Given the description of an element on the screen output the (x, y) to click on. 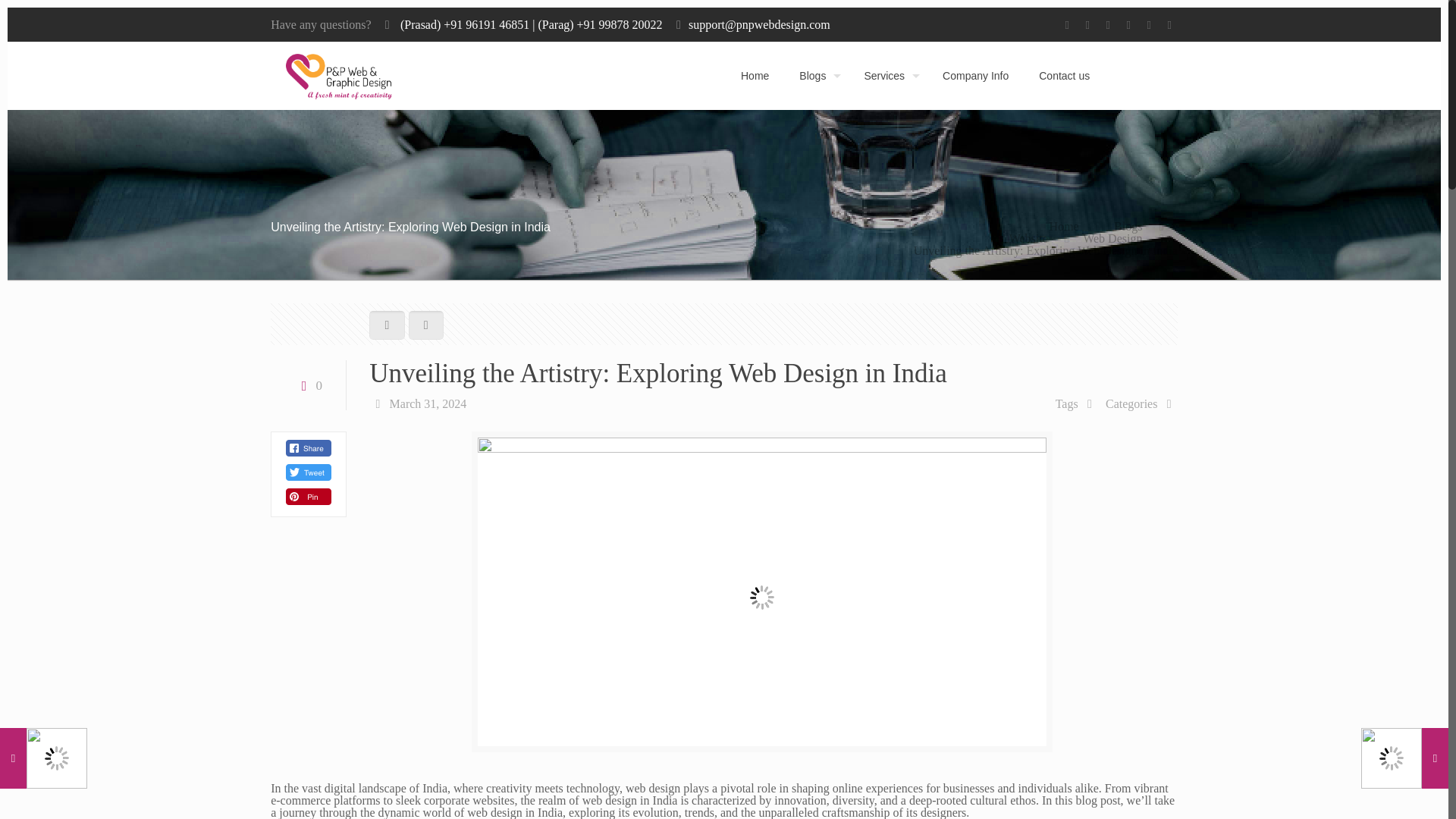
Home (1063, 226)
LinkedIn (1129, 24)
Web Design (1112, 237)
Contact us (1064, 75)
Pinterest (1149, 24)
Services (887, 75)
Instagram (1169, 24)
Blogs (1127, 226)
Blogs (816, 75)
Twitter (1108, 24)
